Given the description of an element on the screen output the (x, y) to click on. 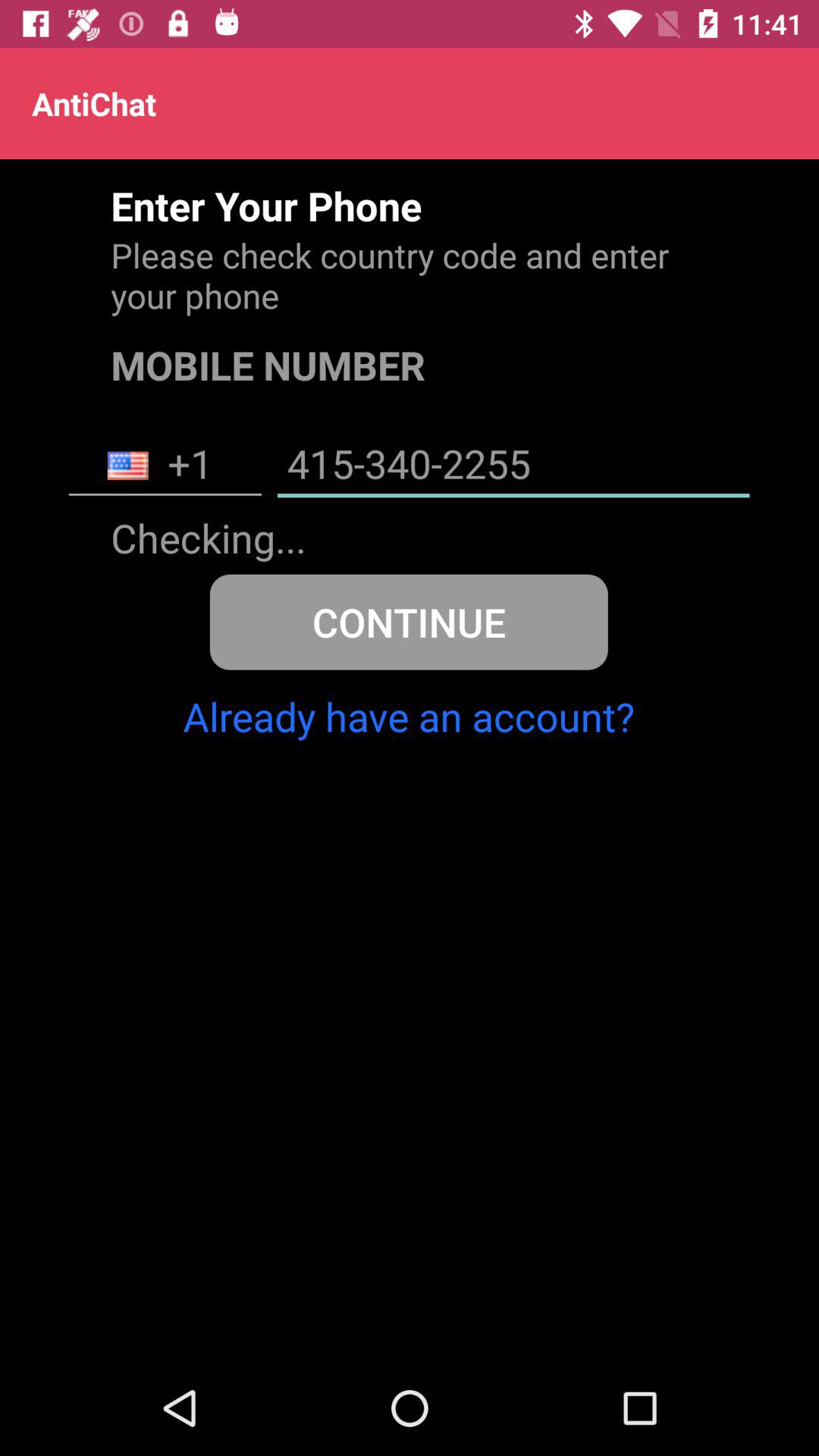
press the item below mobile number (164, 466)
